Given the description of an element on the screen output the (x, y) to click on. 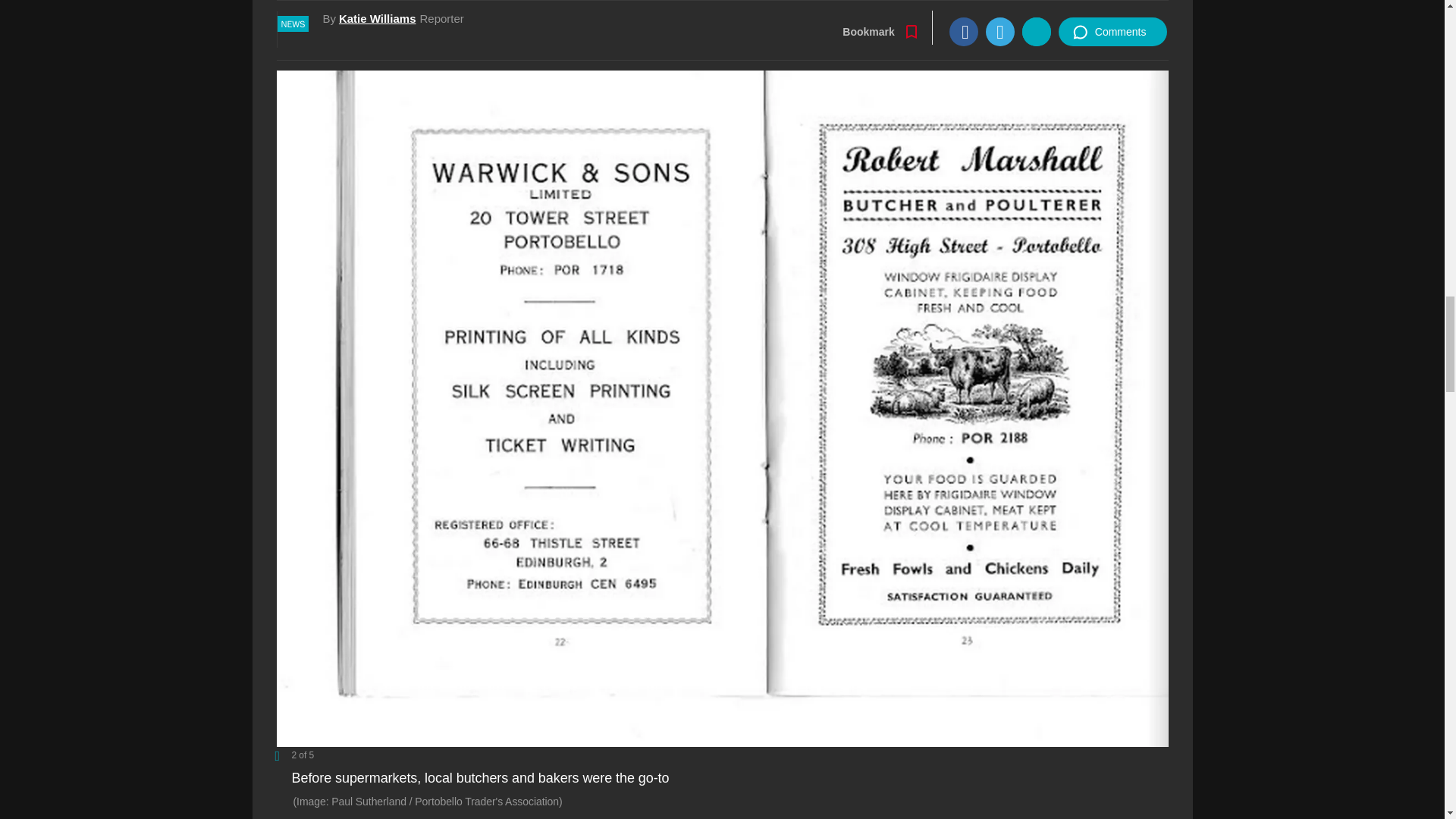
Twitter (974, 6)
Comments (1090, 7)
Facebook (939, 6)
